Given the description of an element on the screen output the (x, y) to click on. 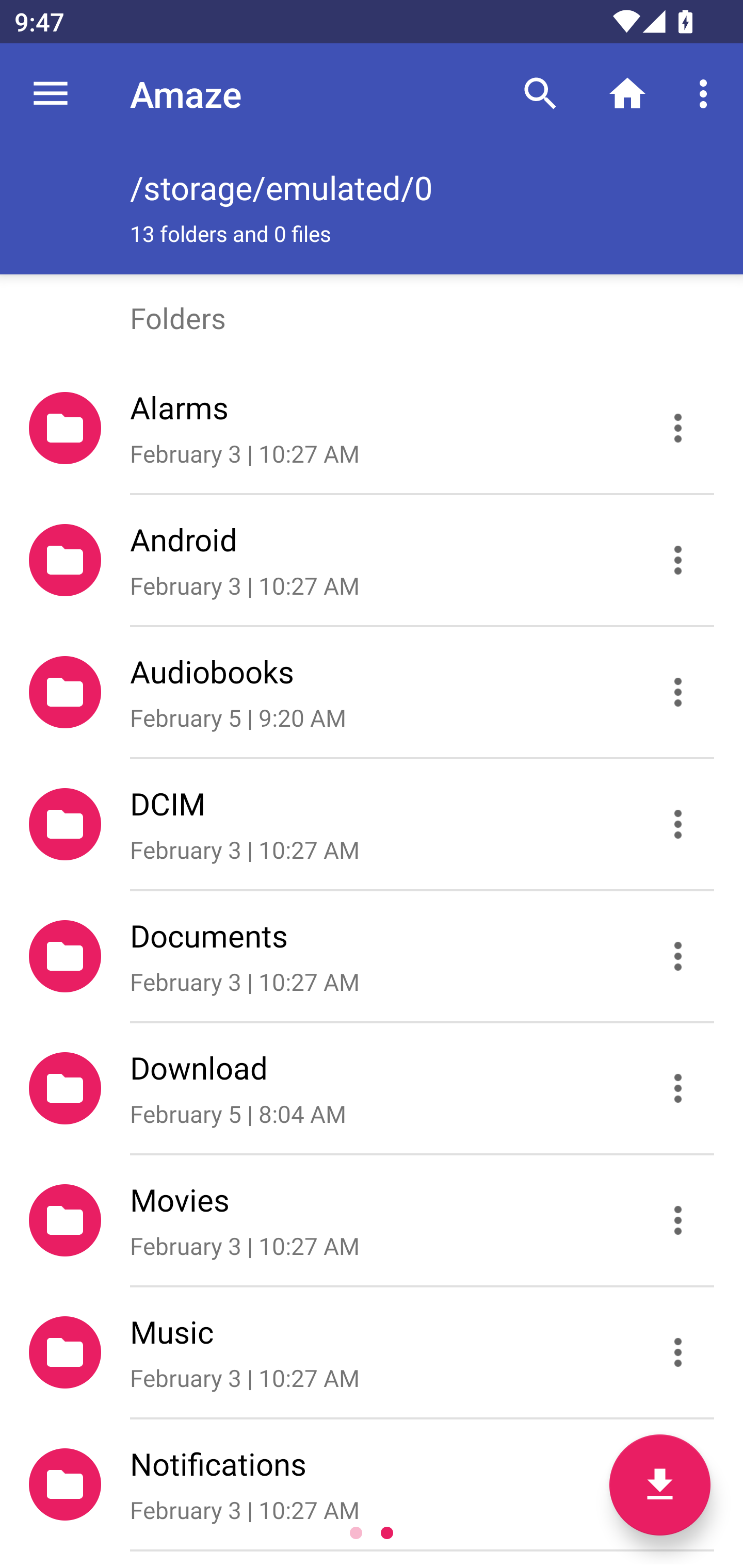
Navigate up (50, 93)
Search (540, 93)
Home (626, 93)
More options (706, 93)
Alarms February 3 | 10:27 AM (371, 427)
Android February 3 | 10:27 AM (371, 560)
Audiobooks February 5 | 9:20 AM (371, 692)
DCIM February 3 | 10:27 AM (371, 823)
Documents February 3 | 10:27 AM (371, 955)
Download February 5 | 8:04 AM (371, 1088)
Movies February 3 | 10:27 AM (371, 1220)
Music February 3 | 10:27 AM (371, 1352)
Notifications February 3 | 10:27 AM (371, 1484)
